Given the description of an element on the screen output the (x, y) to click on. 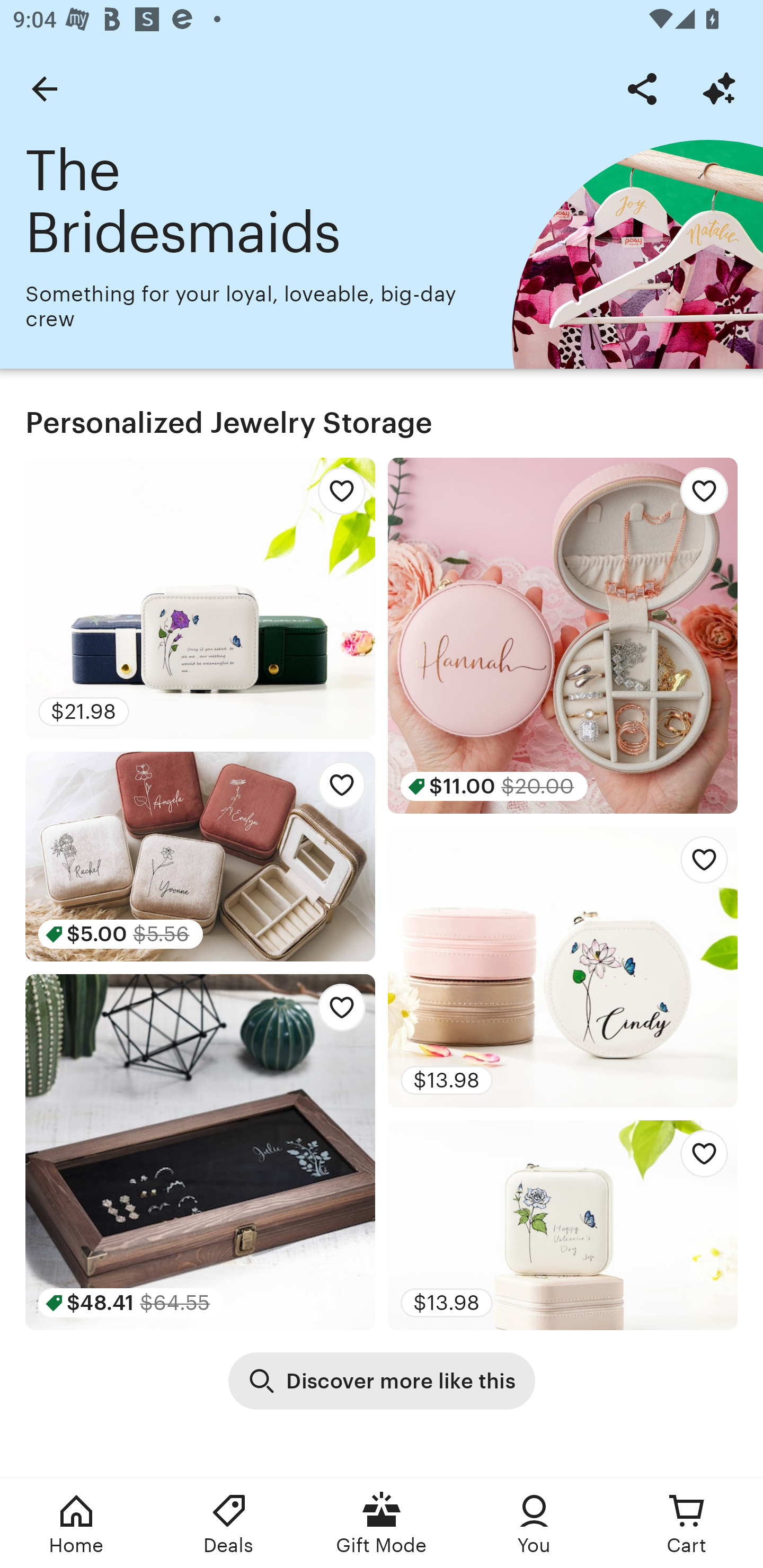
Back (44, 88)
$21.98 (200, 597)
Sale price: $11.00 $11.00 $20.00 (562, 635)
Sale price: $5.00 $5.00 $5.56 (200, 856)
$13.98 (562, 966)
Sale price: $48.41 $48.41 $64.55 (200, 1151)
$13.98 (562, 1225)
Discover more like this (381, 1380)
Home (76, 1523)
Deals (228, 1523)
You (533, 1523)
Cart (686, 1523)
